Given the description of an element on the screen output the (x, y) to click on. 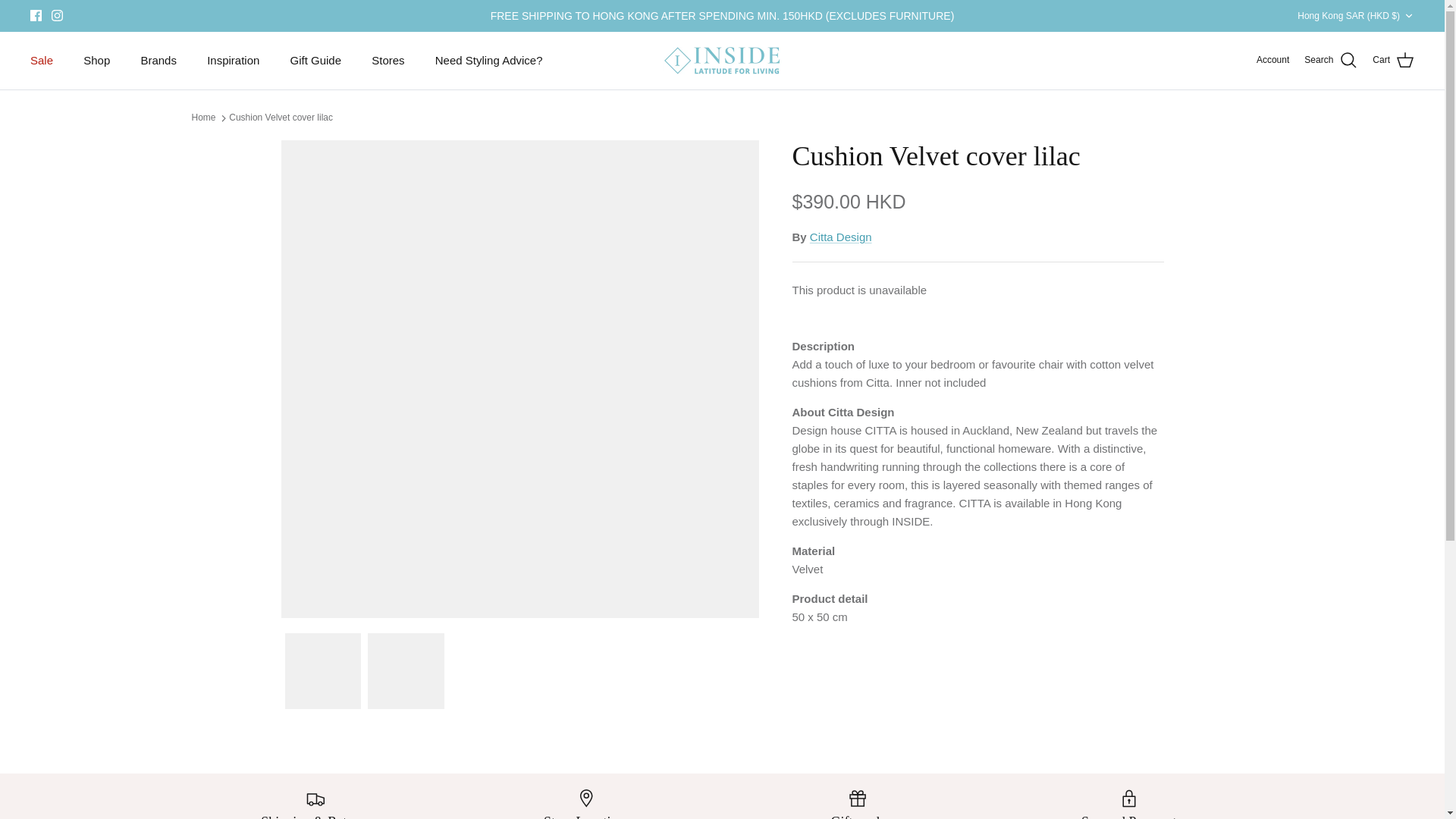
Facebook (36, 15)
Down (1408, 15)
Facebook (36, 15)
Inside Living Hong Kong (721, 60)
Instagram (56, 15)
Instagram (56, 15)
